Given the description of an element on the screen output the (x, y) to click on. 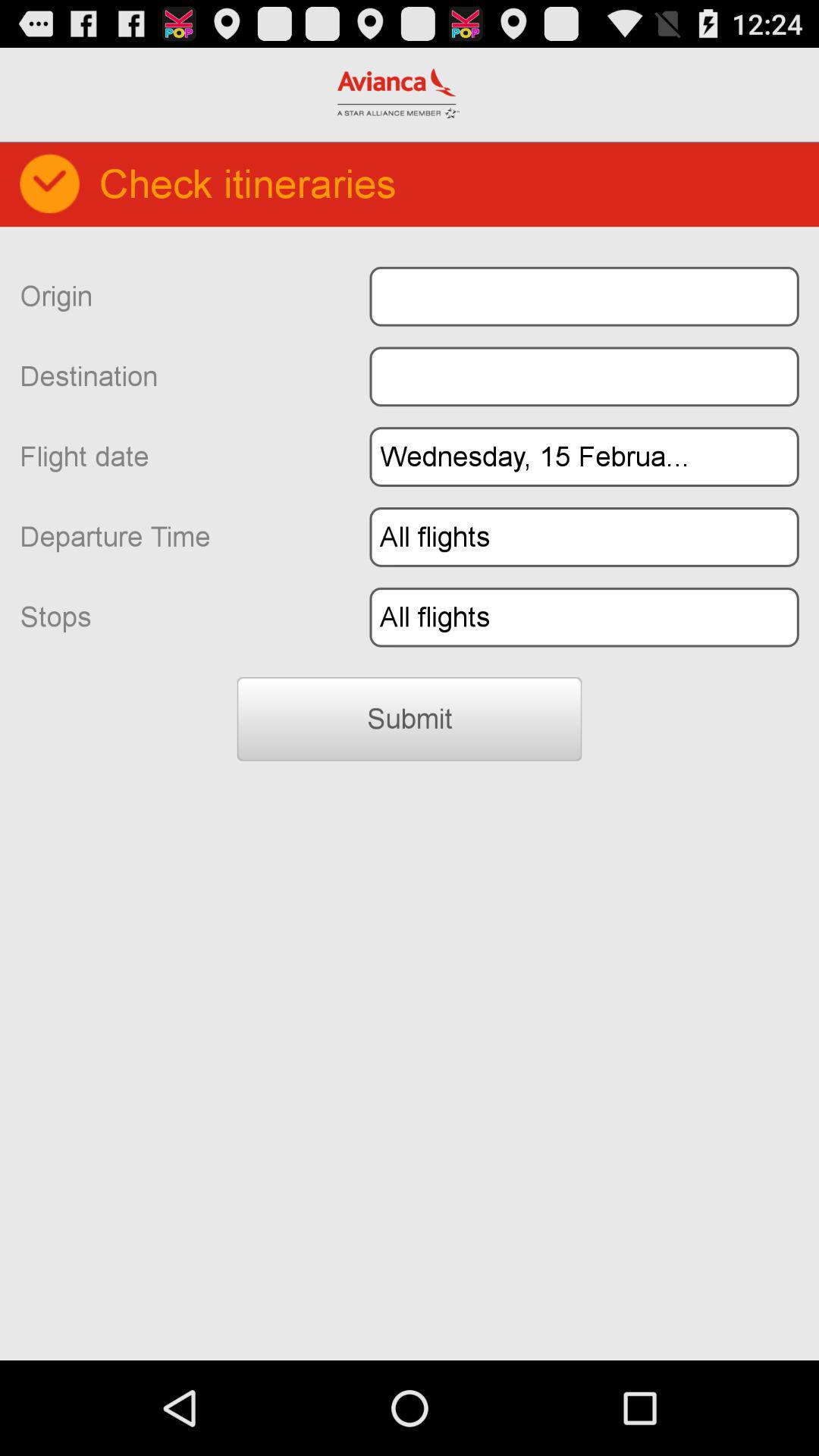
enter destination location (584, 376)
